Given the description of an element on the screen output the (x, y) to click on. 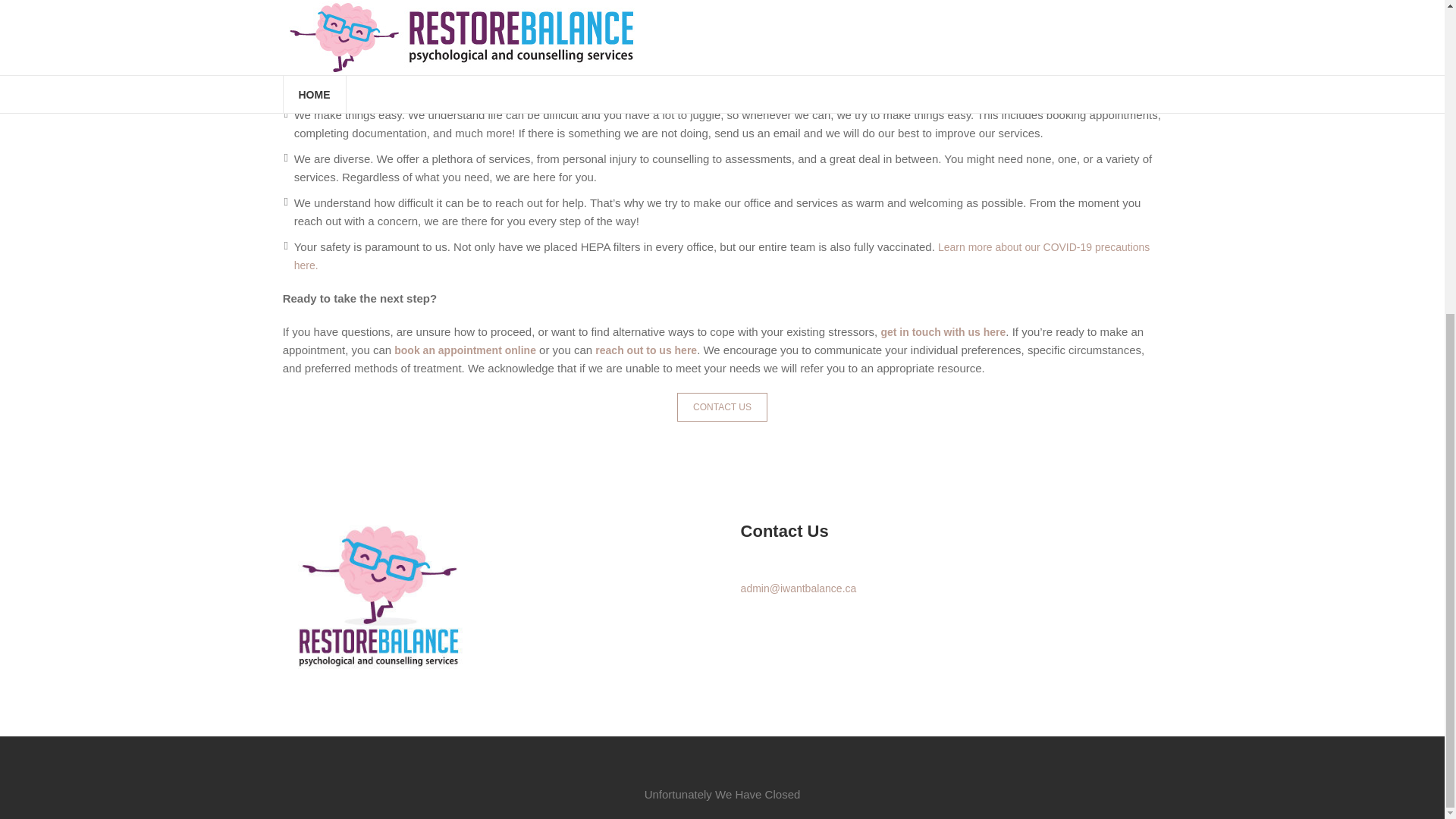
Learn more about our COVID-19 precautions here.  (722, 255)
book an appointment online (464, 349)
CONTACT US (722, 407)
reach out to us here (646, 349)
get in touch with us here (943, 331)
